Given the description of an element on the screen output the (x, y) to click on. 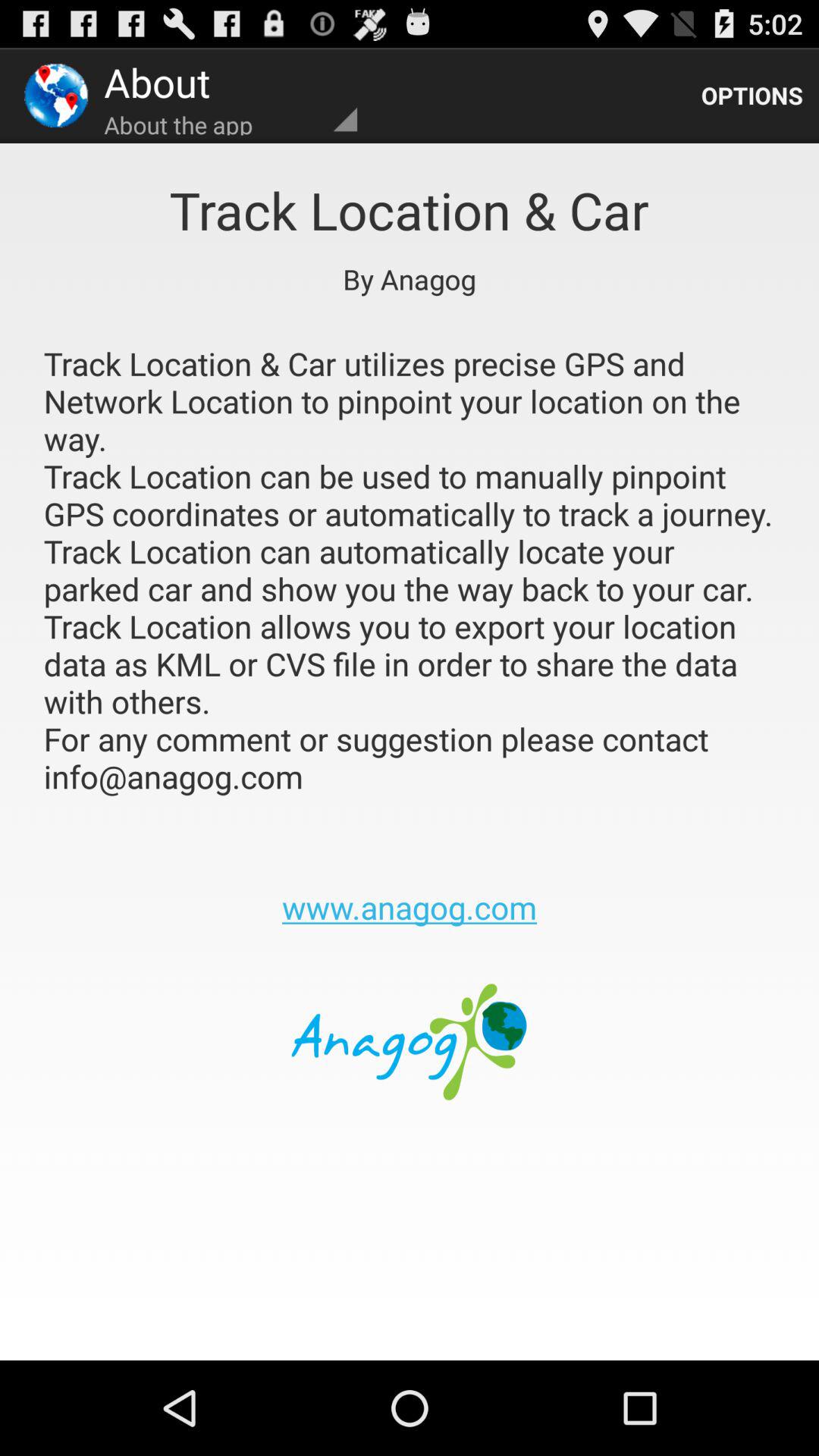
turn on icon above the track location car app (752, 95)
